Given the description of an element on the screen output the (x, y) to click on. 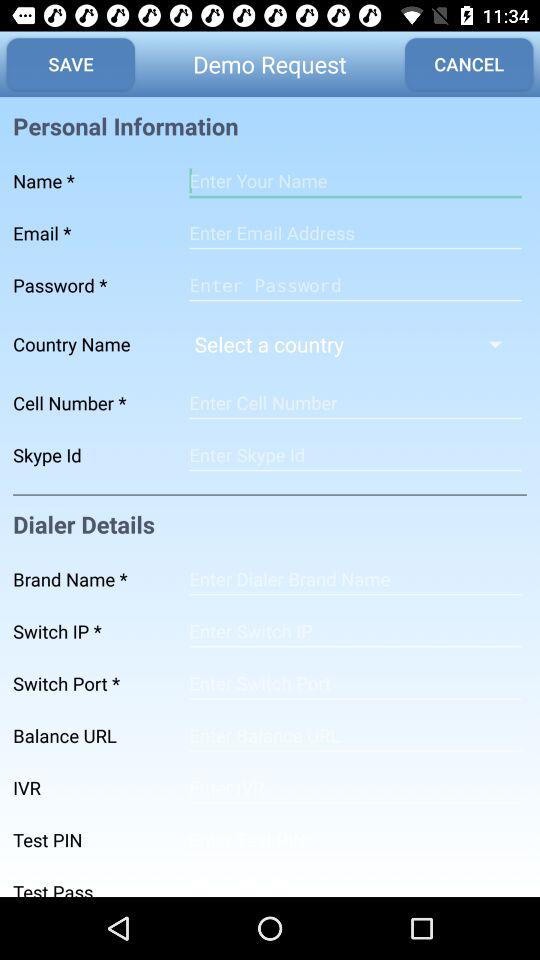
toggle text input (355, 233)
